Given the description of an element on the screen output the (x, y) to click on. 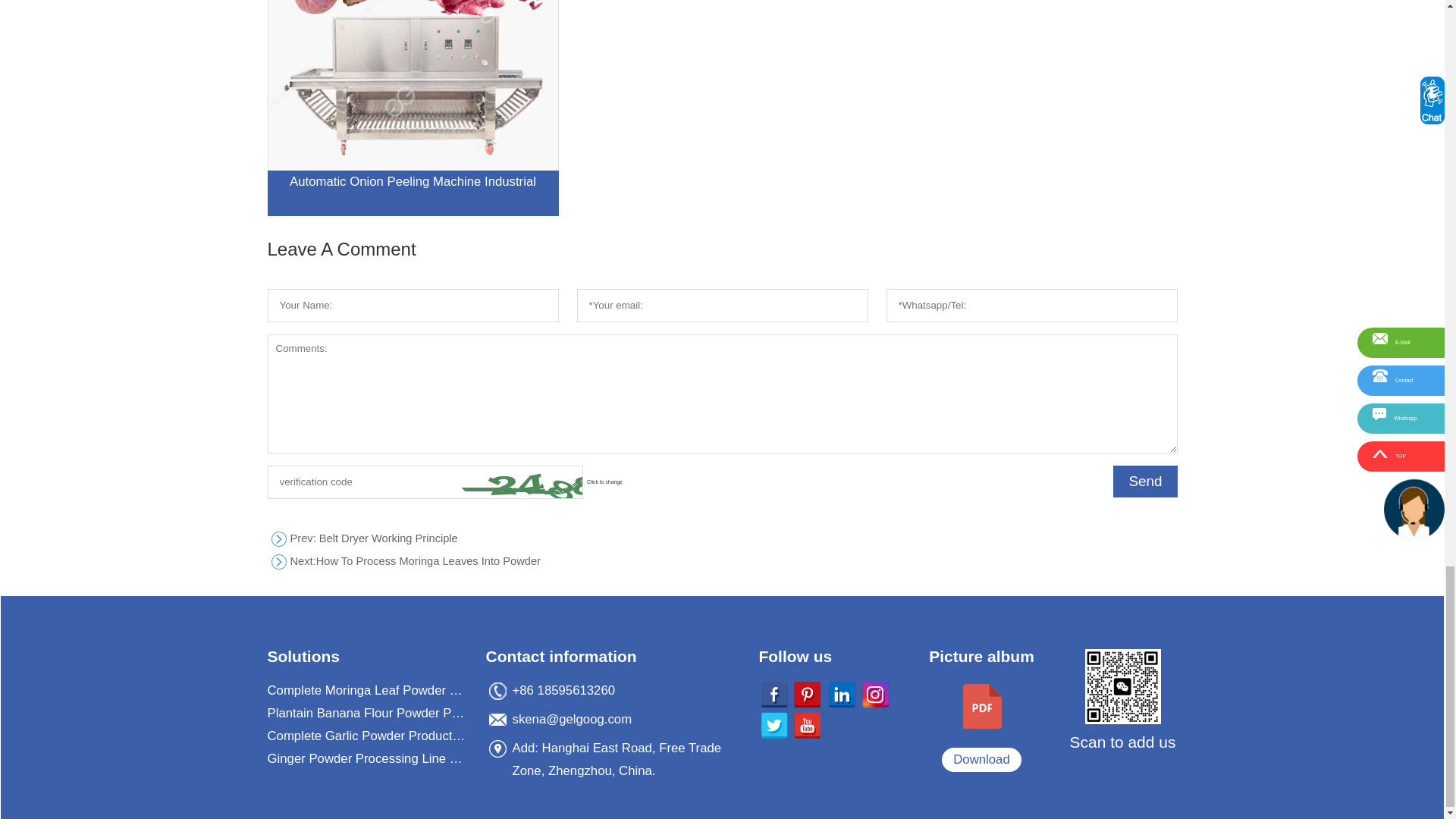
Complete Moringa Leaf Powder Processing Machine (366, 690)
Plantain Banana Flour Powder Processing Machine Plant (366, 712)
Automatic Onion Peeling Machine Industrial (721, 561)
Send (411, 107)
Complete Garlic Powder Production Processing Plant (721, 538)
